Given the description of an element on the screen output the (x, y) to click on. 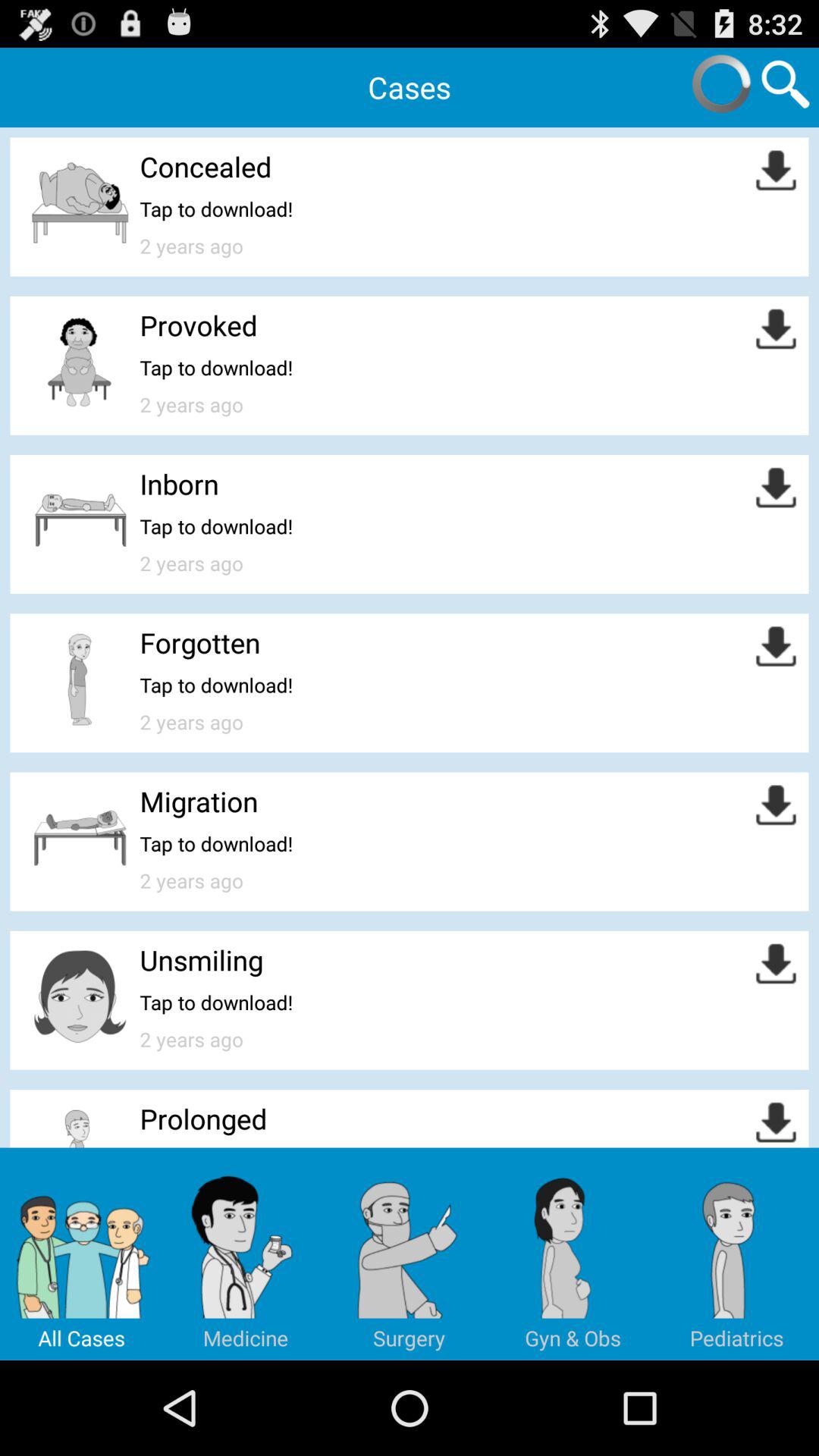
launch the forgotten app (199, 642)
